Given the description of an element on the screen output the (x, y) to click on. 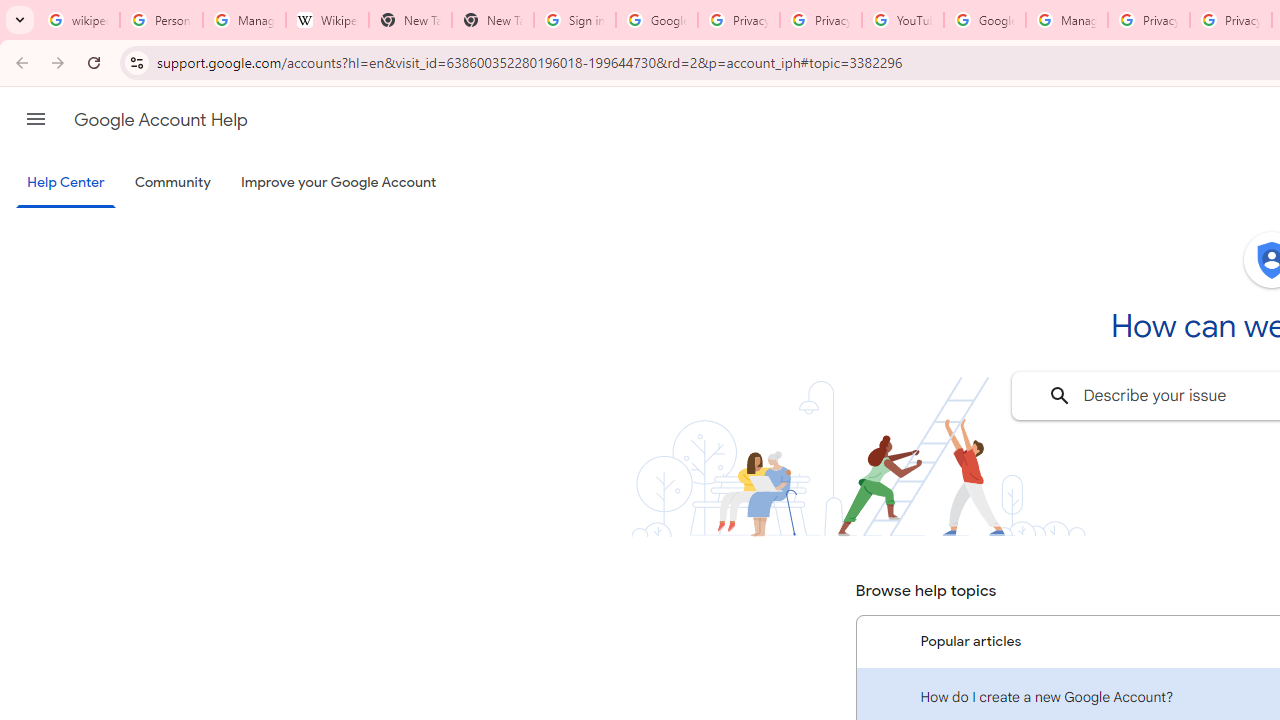
Google Account Help (160, 119)
New Tab (409, 20)
Manage your Location History - Google Search Help (244, 20)
Main menu (35, 119)
Google Drive: Sign-in (656, 20)
